Given the description of an element on the screen output the (x, y) to click on. 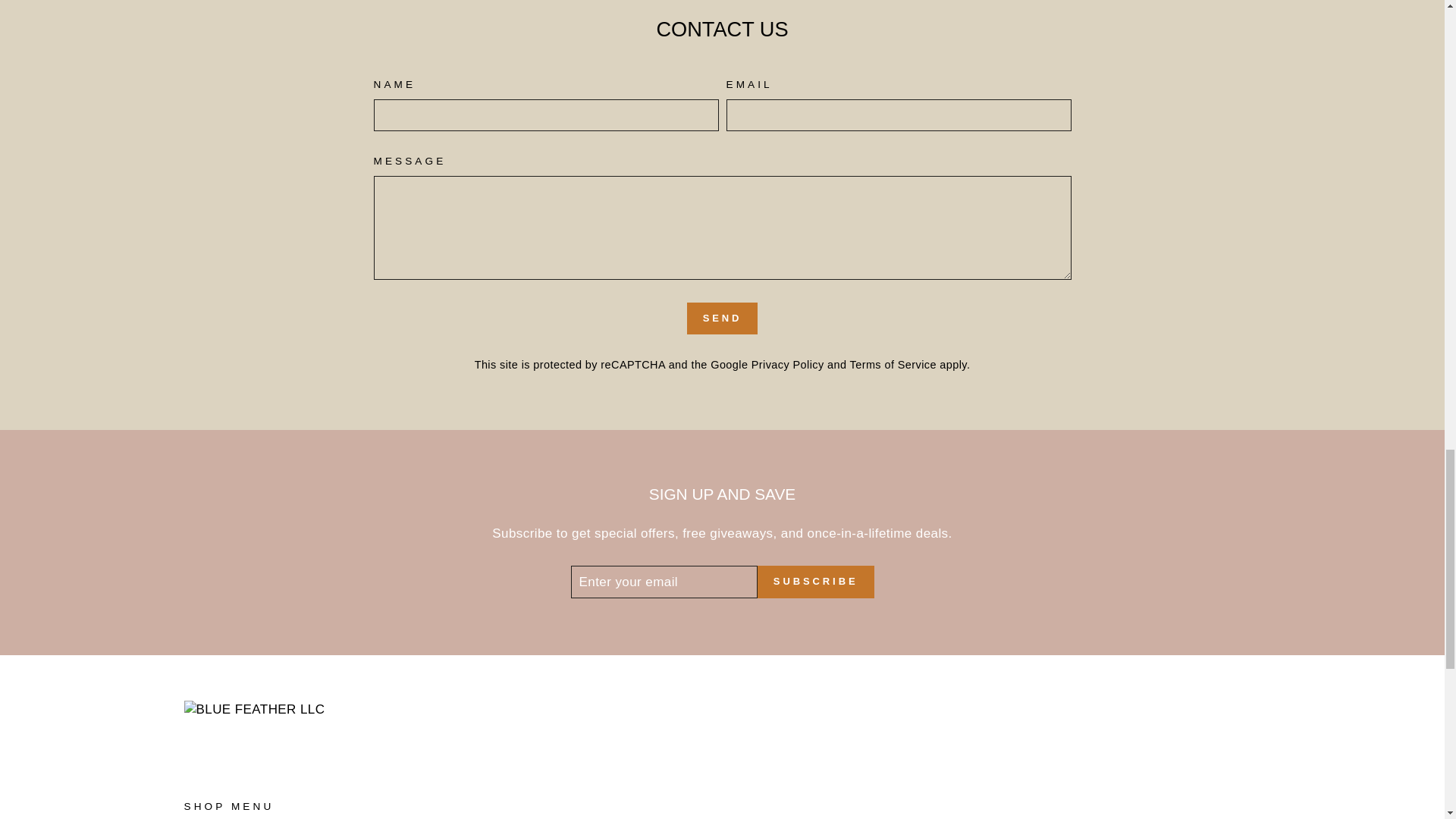
SEND (722, 318)
Terms of Service (893, 364)
Privacy Policy (787, 364)
